Given the description of an element on the screen output the (x, y) to click on. 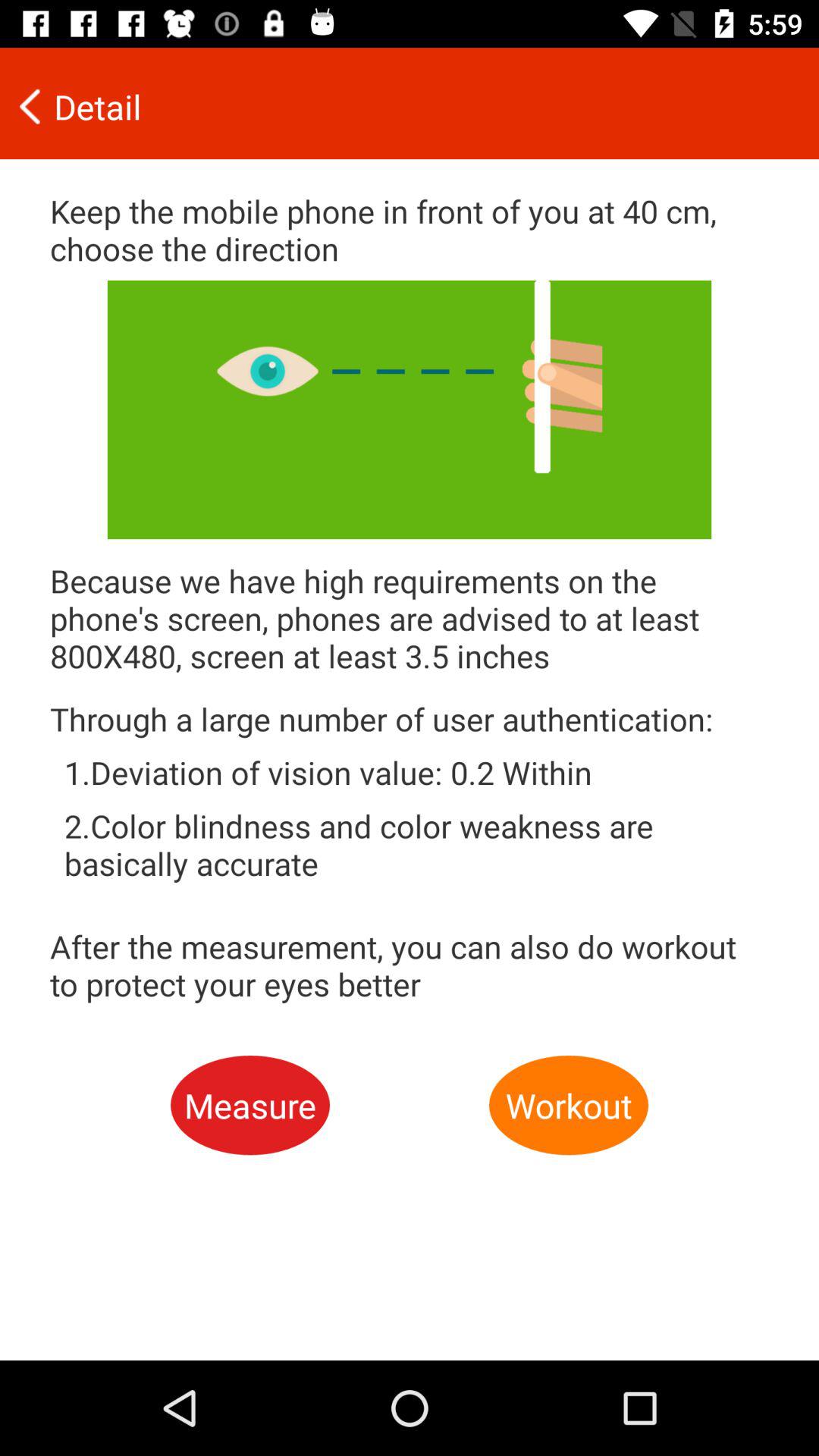
choose item above the keep the mobile icon (399, 106)
